Given the description of an element on the screen output the (x, y) to click on. 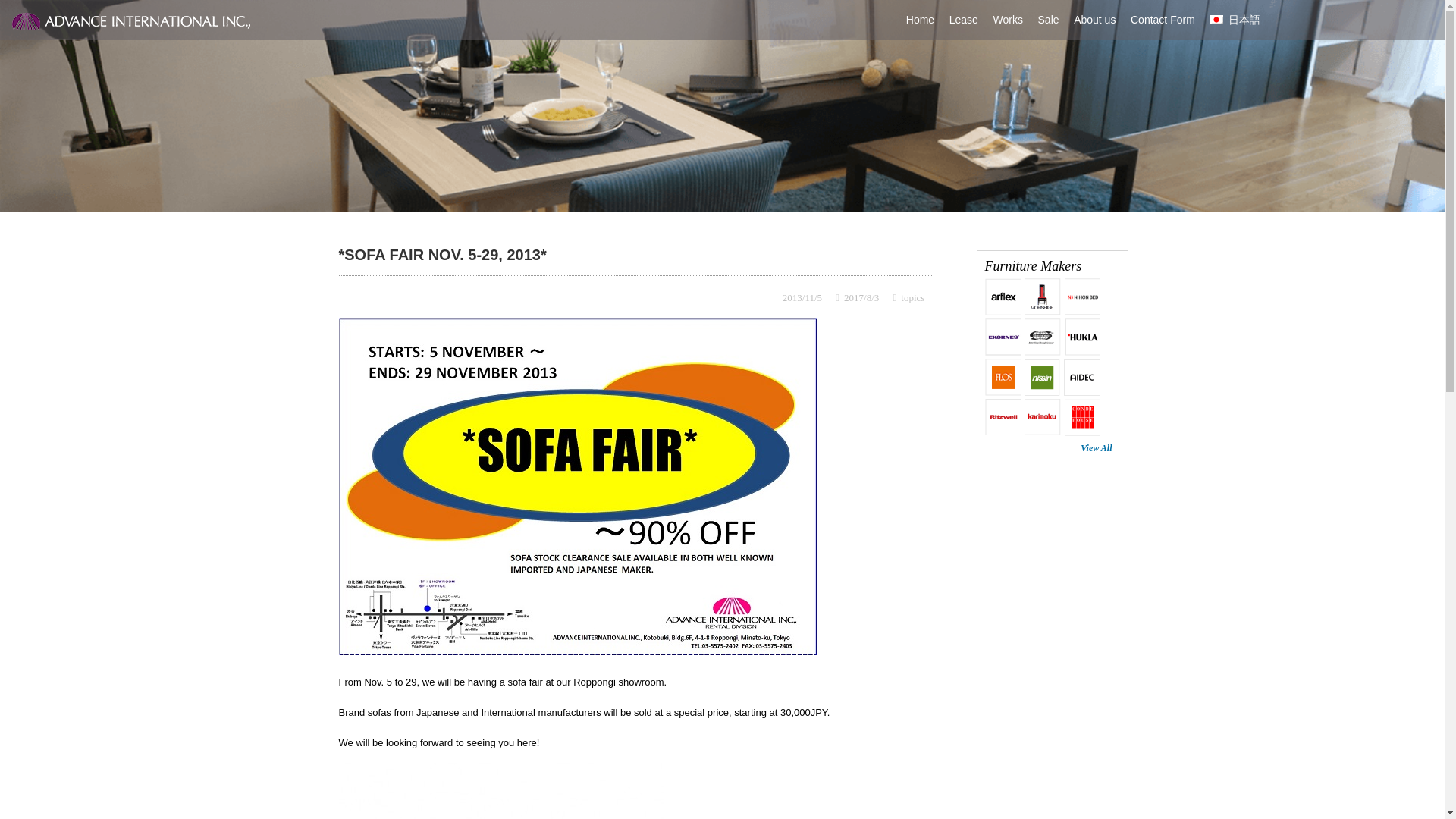
Works (1007, 19)
IMAGE2 (499, 790)
Home (920, 19)
Lease (963, 19)
